Given the description of an element on the screen output the (x, y) to click on. 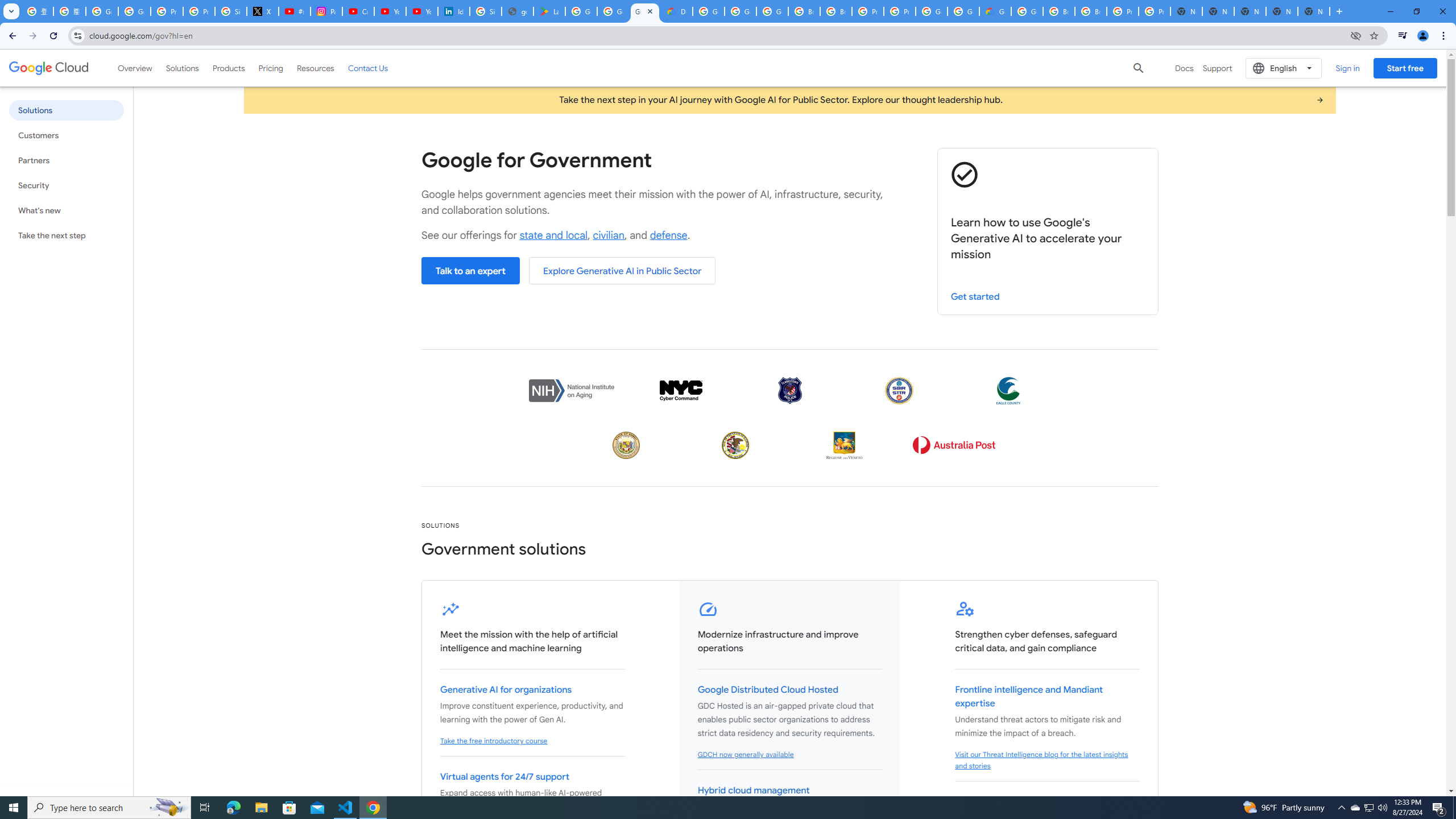
Google Cloud Platform (931, 11)
Last Shelter: Survival - Apps on Google Play (549, 11)
Contact Us (368, 67)
Google Workspace - Specific Terms (613, 11)
Security (65, 185)
State of Hawaii (625, 445)
Docs (1183, 67)
Hybrid cloud management (753, 790)
Generative AI for organizations (505, 689)
